Given the description of an element on the screen output the (x, y) to click on. 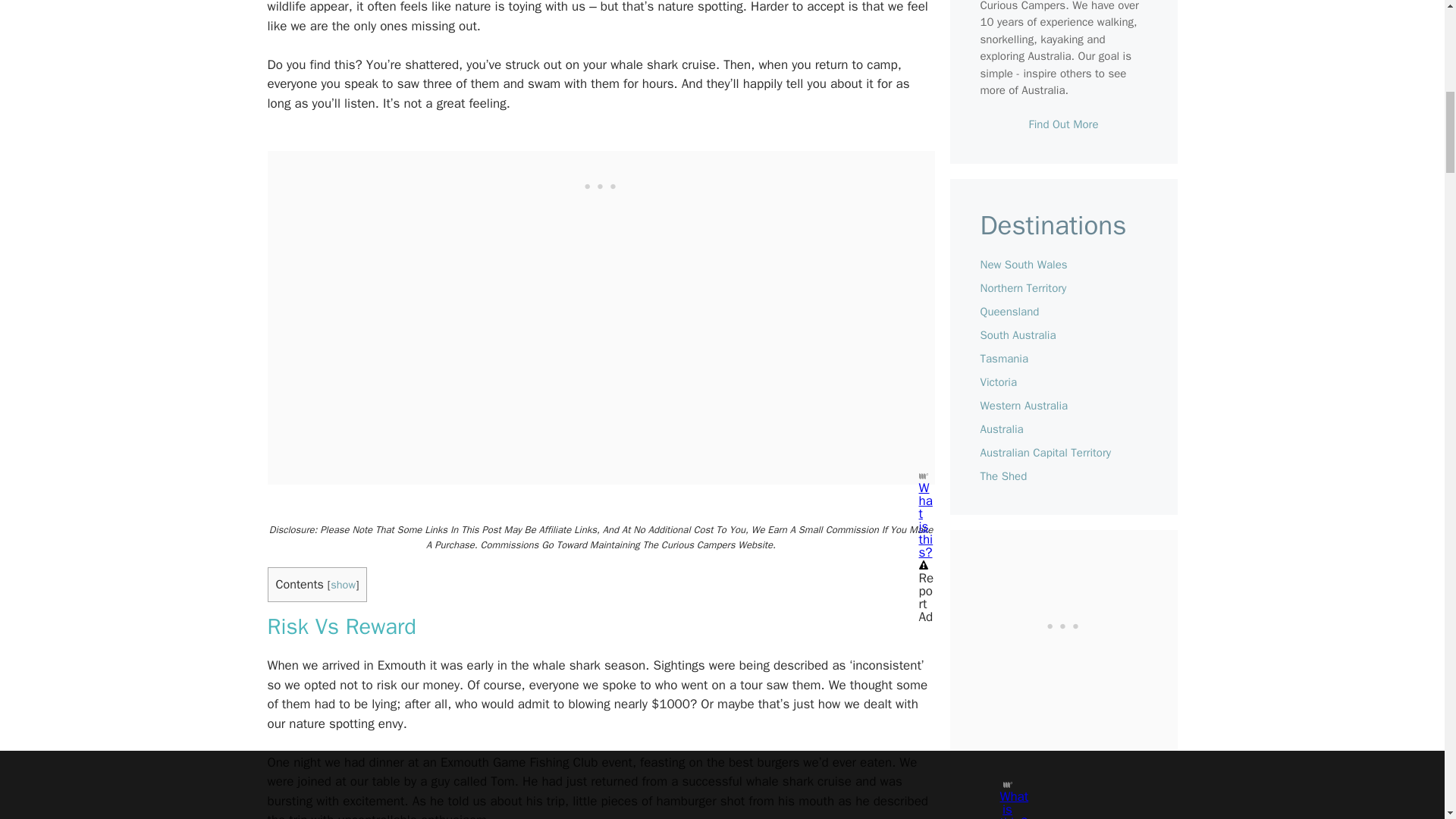
3rd party ad content (1062, 624)
3rd party ad content (600, 184)
Scroll back to top (1406, 576)
